Given the description of an element on the screen output the (x, y) to click on. 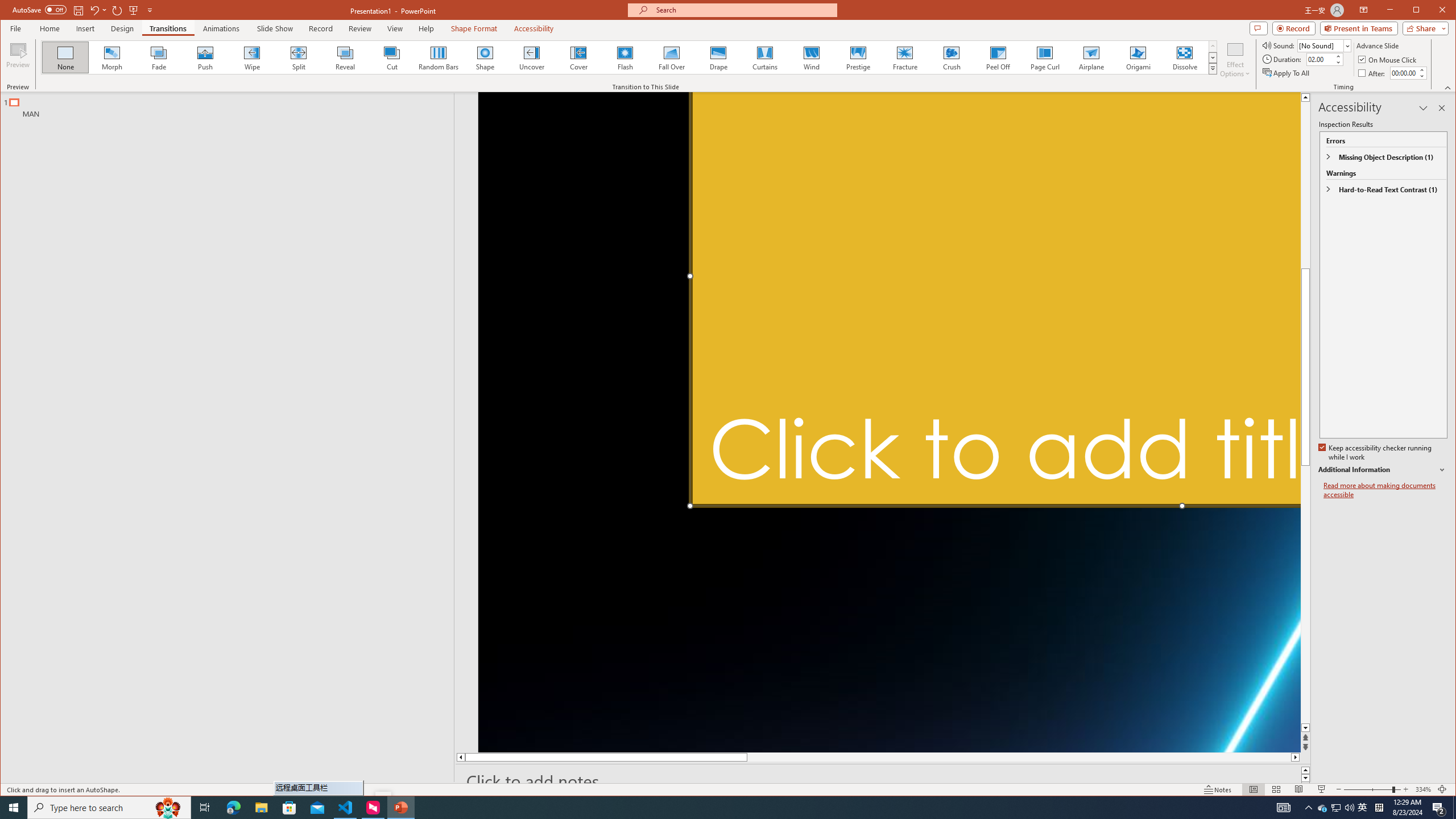
Flash (624, 57)
After (1372, 72)
Random Bars (437, 57)
Push (205, 57)
Microsoft Edge (233, 807)
